Given the description of an element on the screen output the (x, y) to click on. 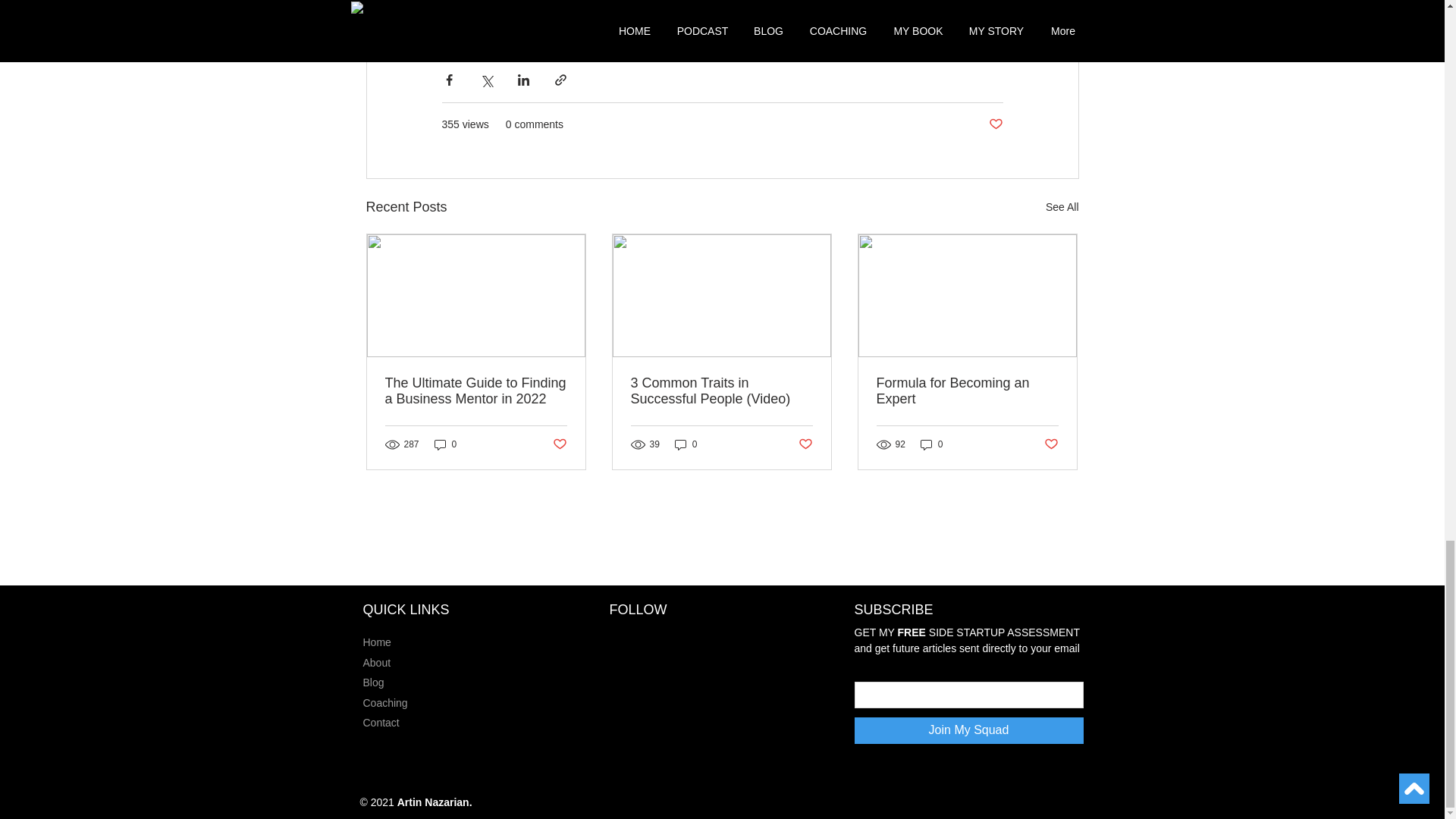
0 (445, 444)
The Ultimate Guide to Finding a Business Mentor in 2022 (476, 391)
Post not marked as liked (804, 443)
Home (376, 642)
About (376, 662)
Post not marked as liked (1050, 443)
Formula for Becoming an Expert (967, 391)
Post not marked as liked (995, 124)
0 (931, 444)
0 (685, 444)
